Given the description of an element on the screen output the (x, y) to click on. 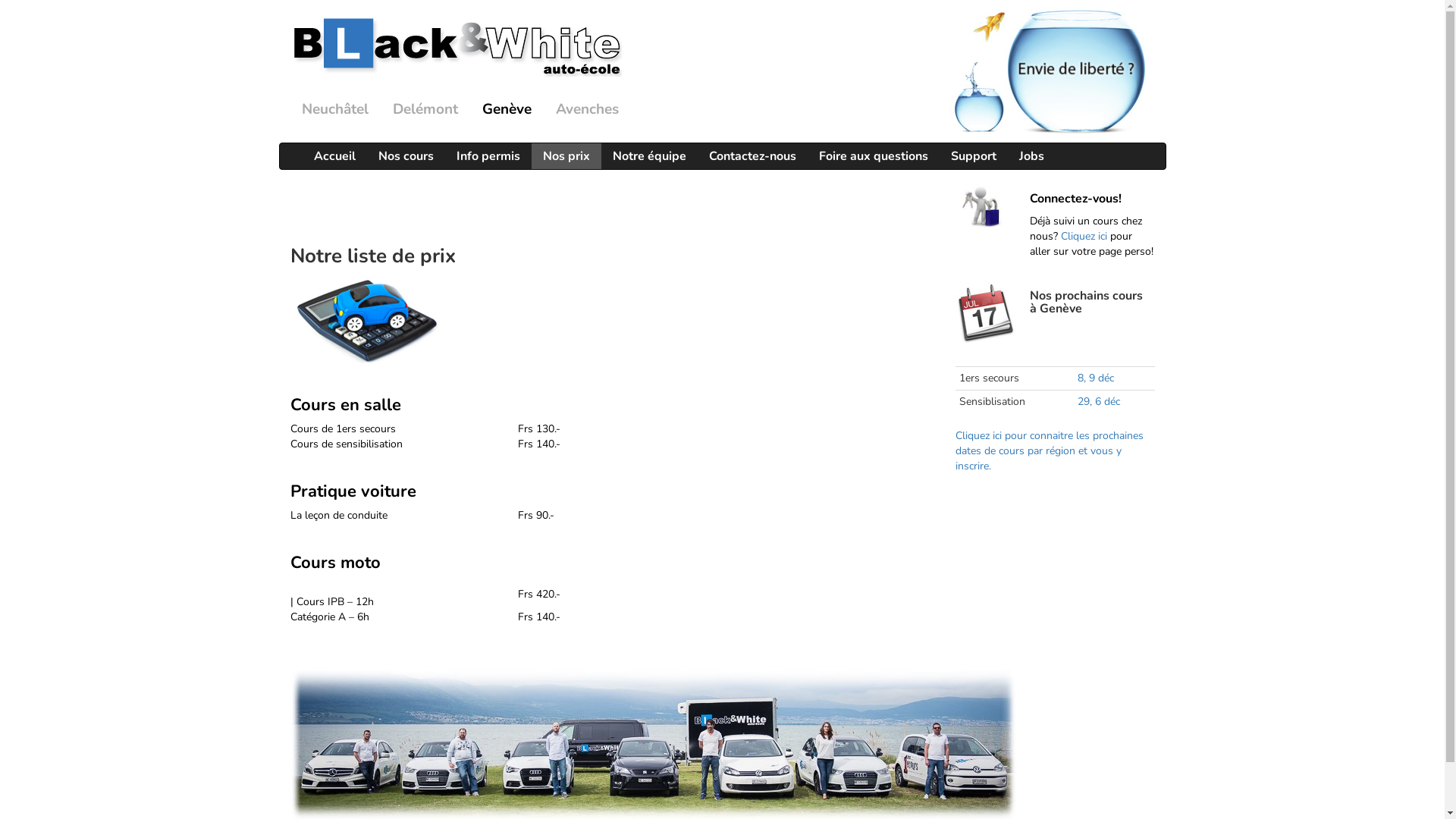
Nos cours Element type: text (406, 156)
Accueil Element type: text (333, 156)
Info permis Element type: text (487, 156)
Support Element type: text (972, 156)
Nos prix Element type: text (565, 156)
Contactez-nous Element type: text (752, 156)
Jobs Element type: text (1030, 156)
Avenches Element type: text (587, 109)
Foire aux questions Element type: text (872, 156)
